Given the description of an element on the screen output the (x, y) to click on. 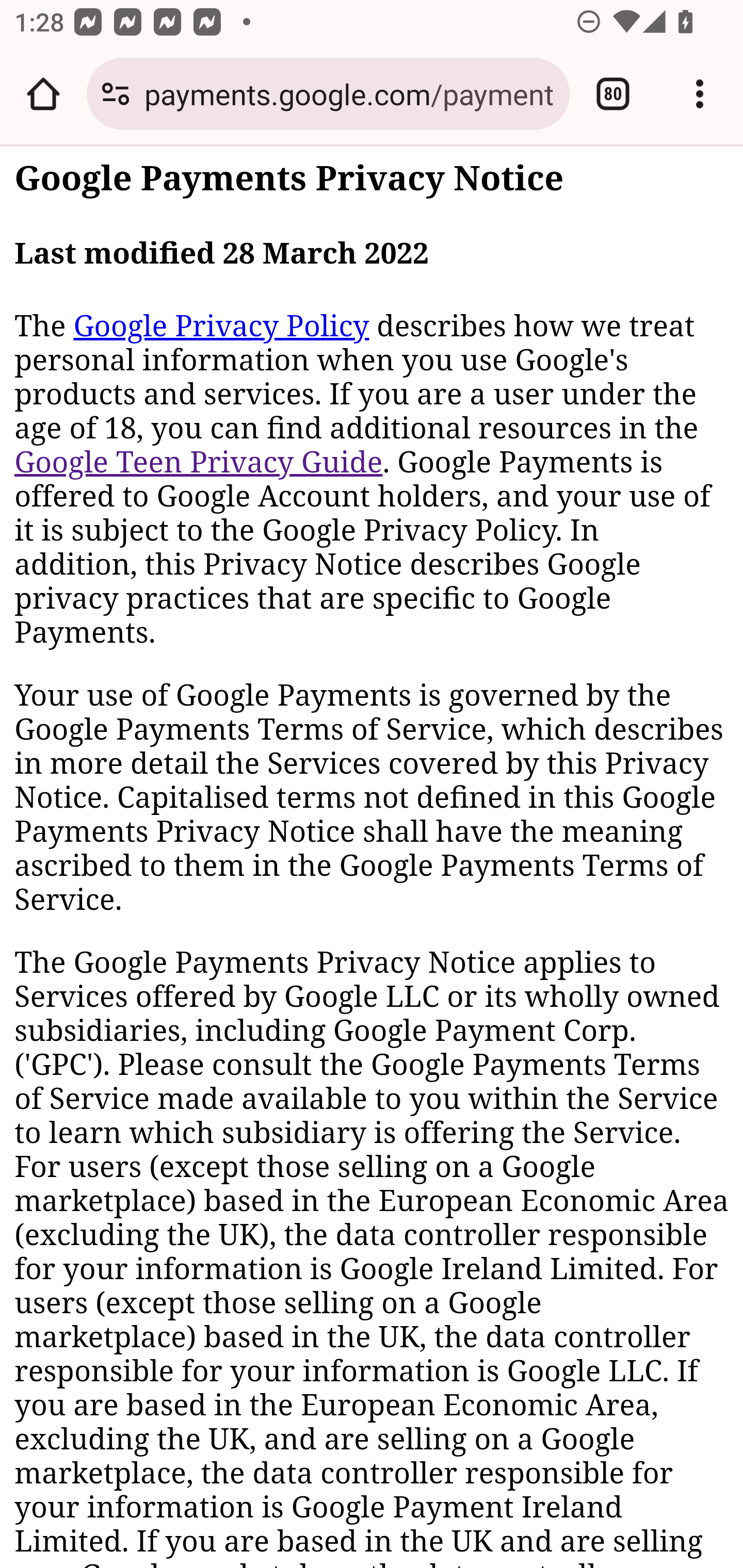
Open the home page (43, 93)
Connection is secure (115, 93)
Switch or close tabs (612, 93)
Customize and control Google Chrome (699, 93)
Google Privacy Policy (221, 326)
Google Teen Privacy Guide (199, 461)
